Given the description of an element on the screen output the (x, y) to click on. 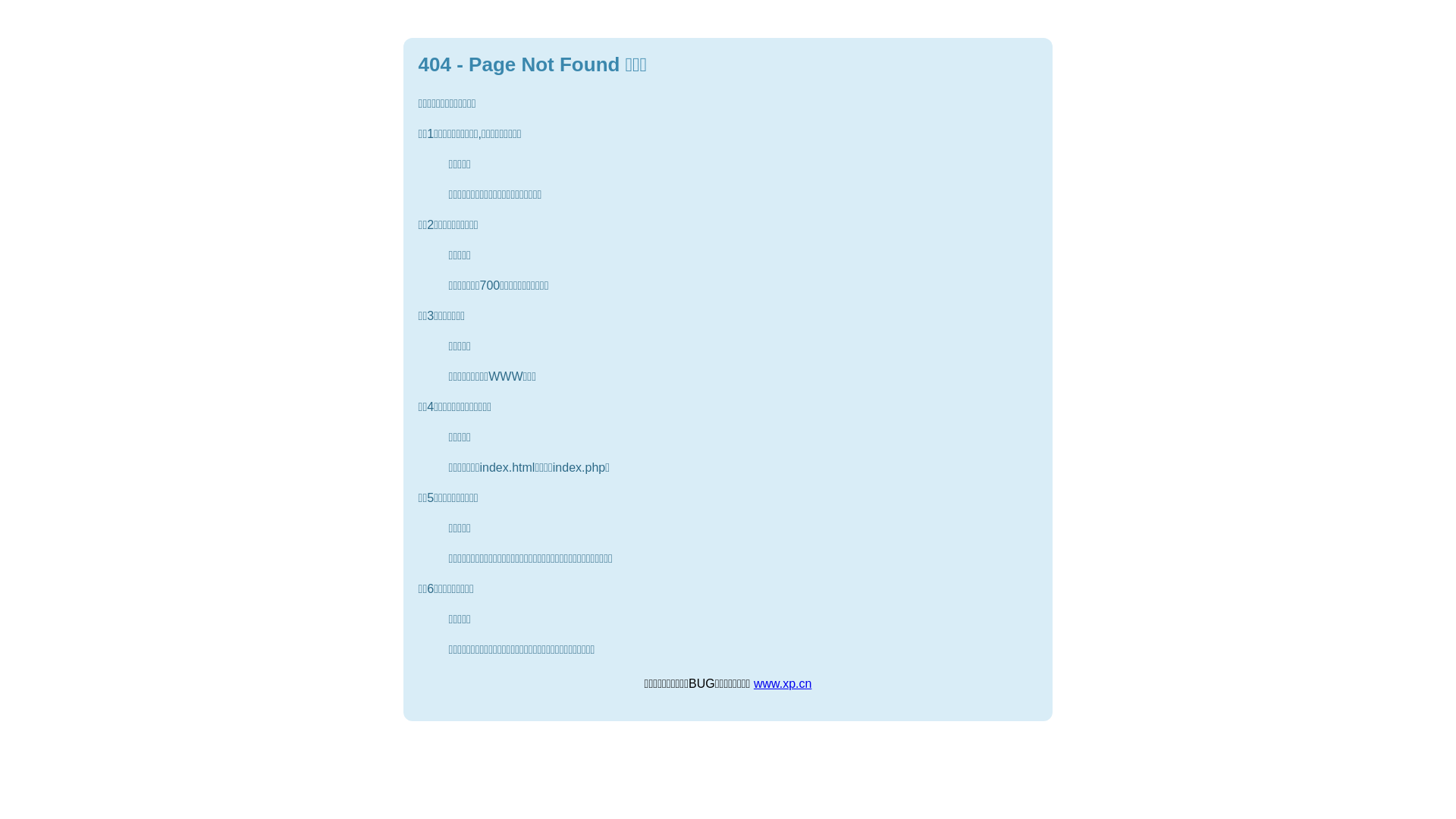
www.xp.cn Element type: text (782, 683)
